Given the description of an element on the screen output the (x, y) to click on. 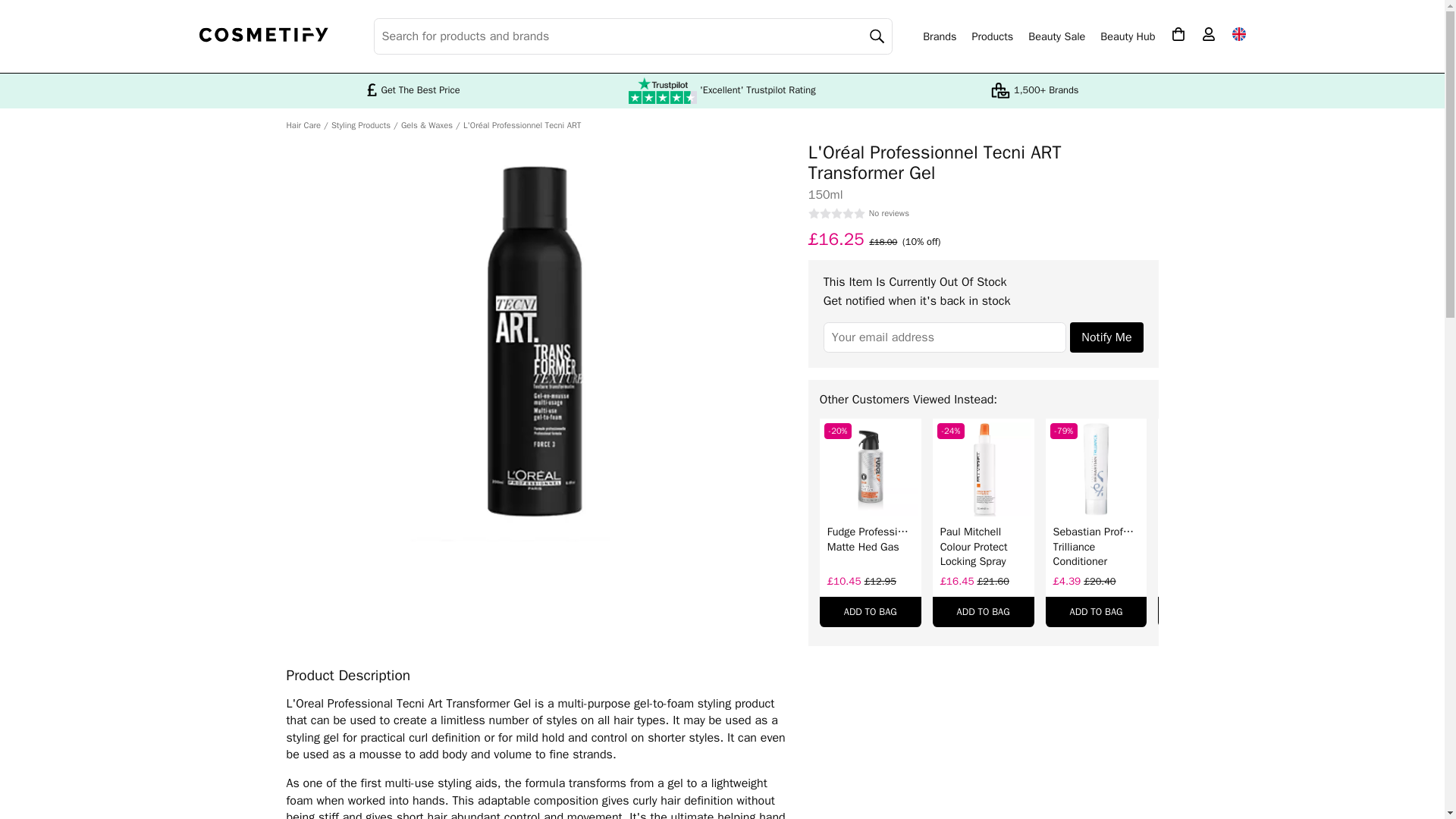
Beauty Hub (1127, 36)
Beauty Sale (1055, 36)
Products (992, 36)
Brands (939, 36)
